Given the description of an element on the screen output the (x, y) to click on. 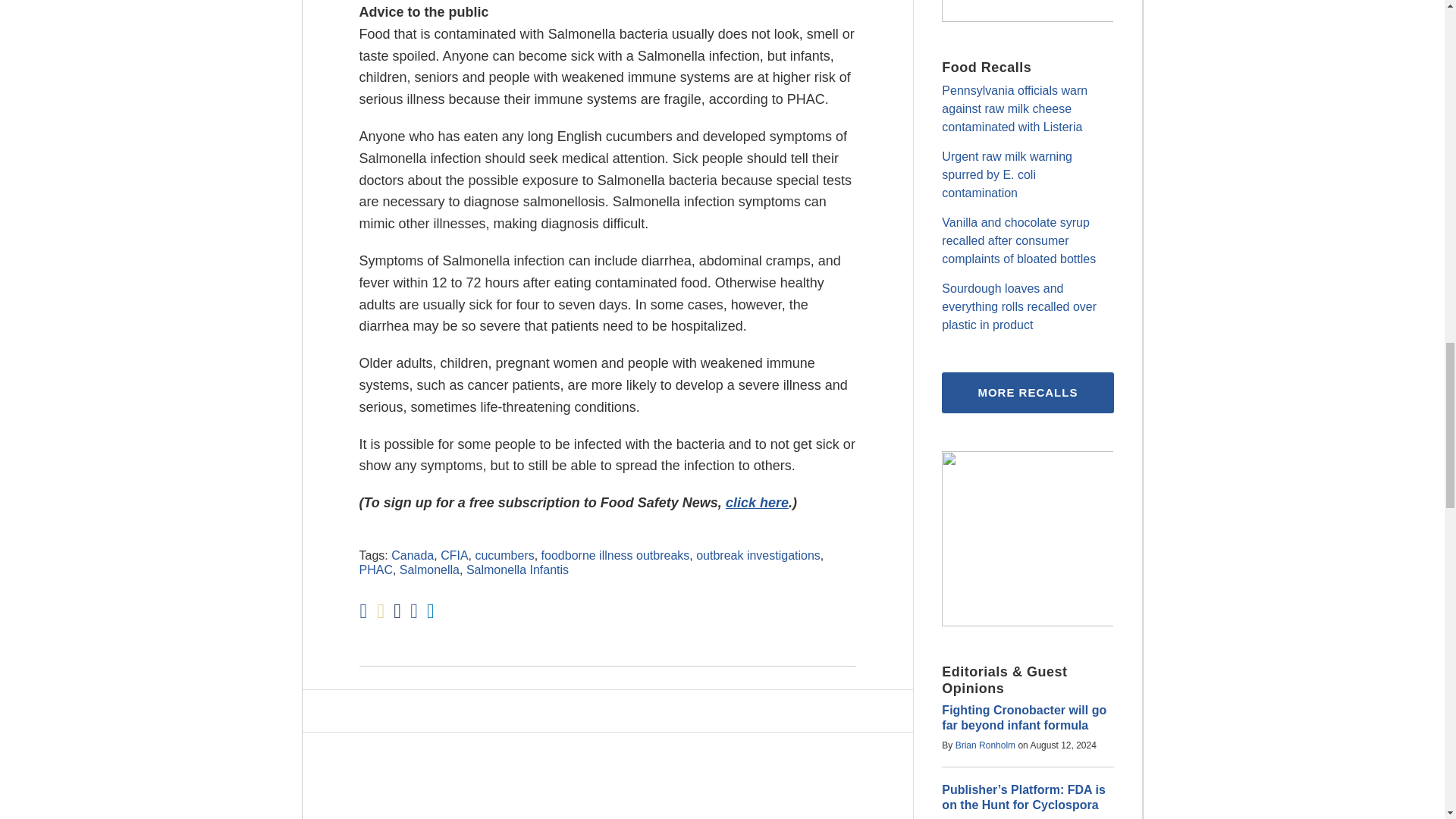
Salmonella Infantis (517, 569)
foodborne illness outbreaks (615, 554)
outbreak investigations (758, 554)
cucumbers (504, 554)
CFIA (454, 554)
click here (757, 502)
Salmonella (429, 569)
Canada (412, 554)
PHAC (376, 569)
